Given the description of an element on the screen output the (x, y) to click on. 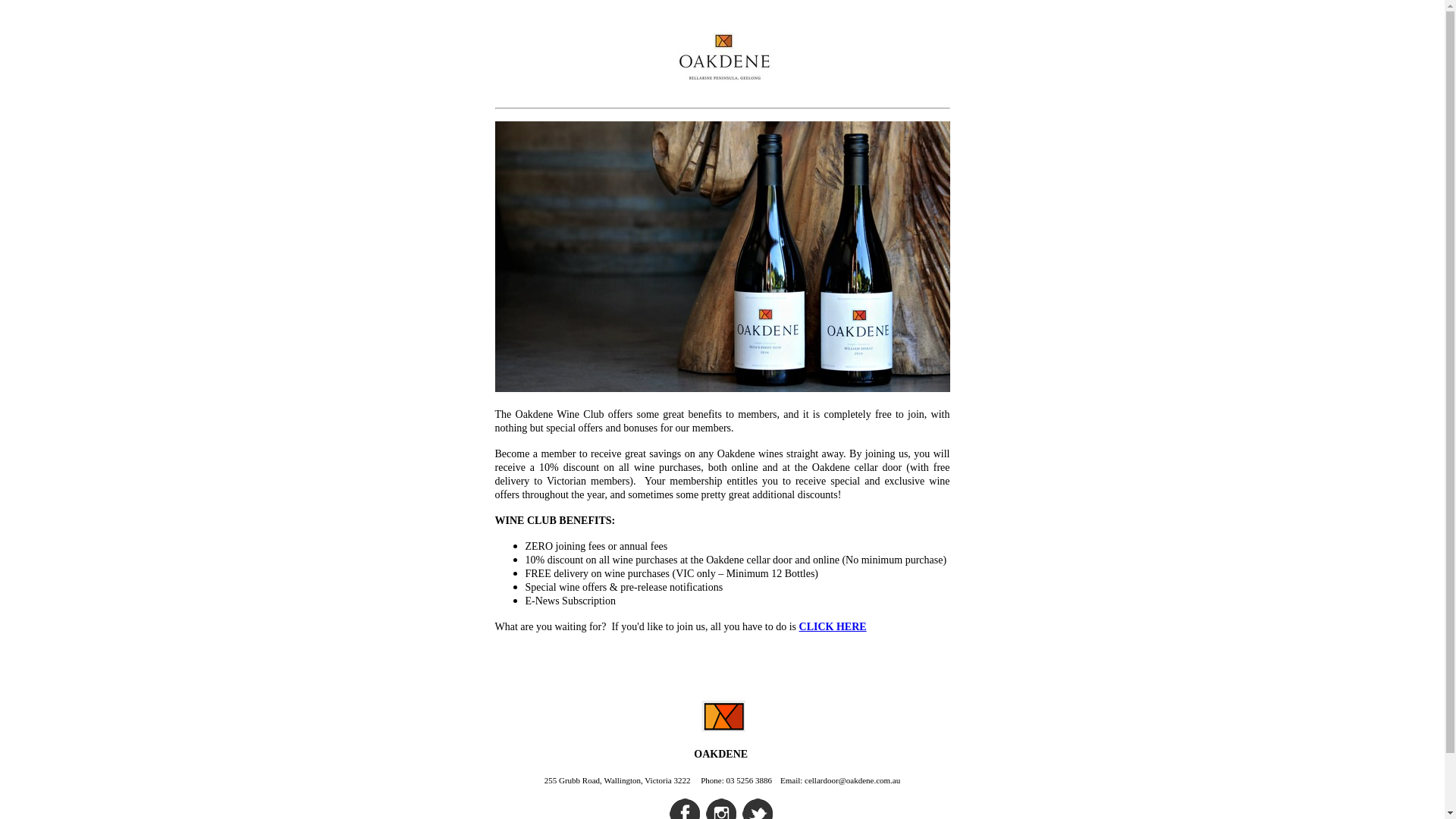
CLICK HERE Element type: text (832, 626)
